Given the description of an element on the screen output the (x, y) to click on. 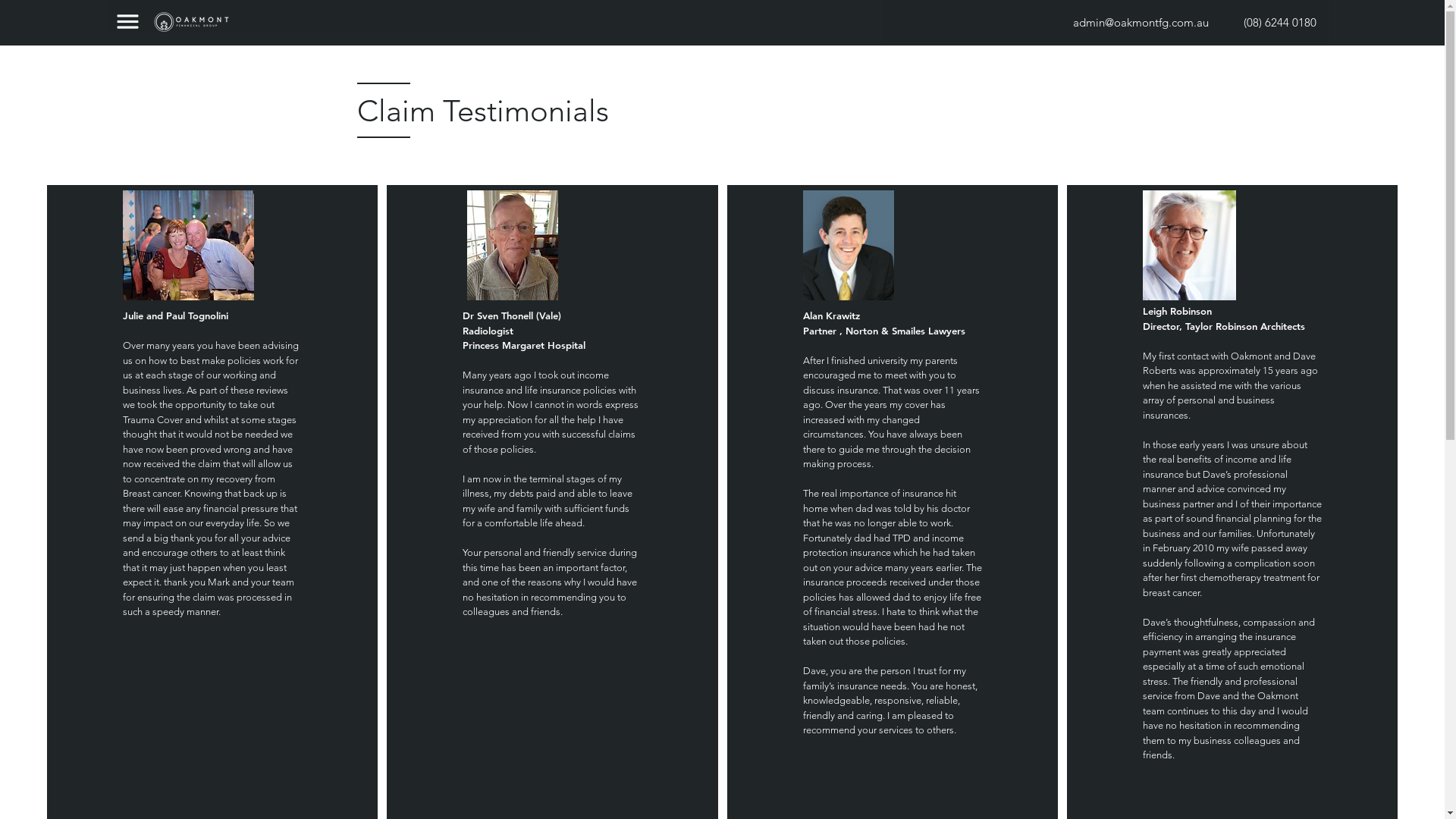
Thonell_-_Photo.jpg Element type: hover (512, 245)
Site Search Element type: hover (981, 27)
img-5.gif Element type: hover (1189, 245)
img-2.gif Element type: hover (848, 245)
(08) 6244 0180 Element type: text (1279, 22)
admin@oakmontfg.com.au Element type: text (1140, 22)
